Given the description of an element on the screen output the (x, y) to click on. 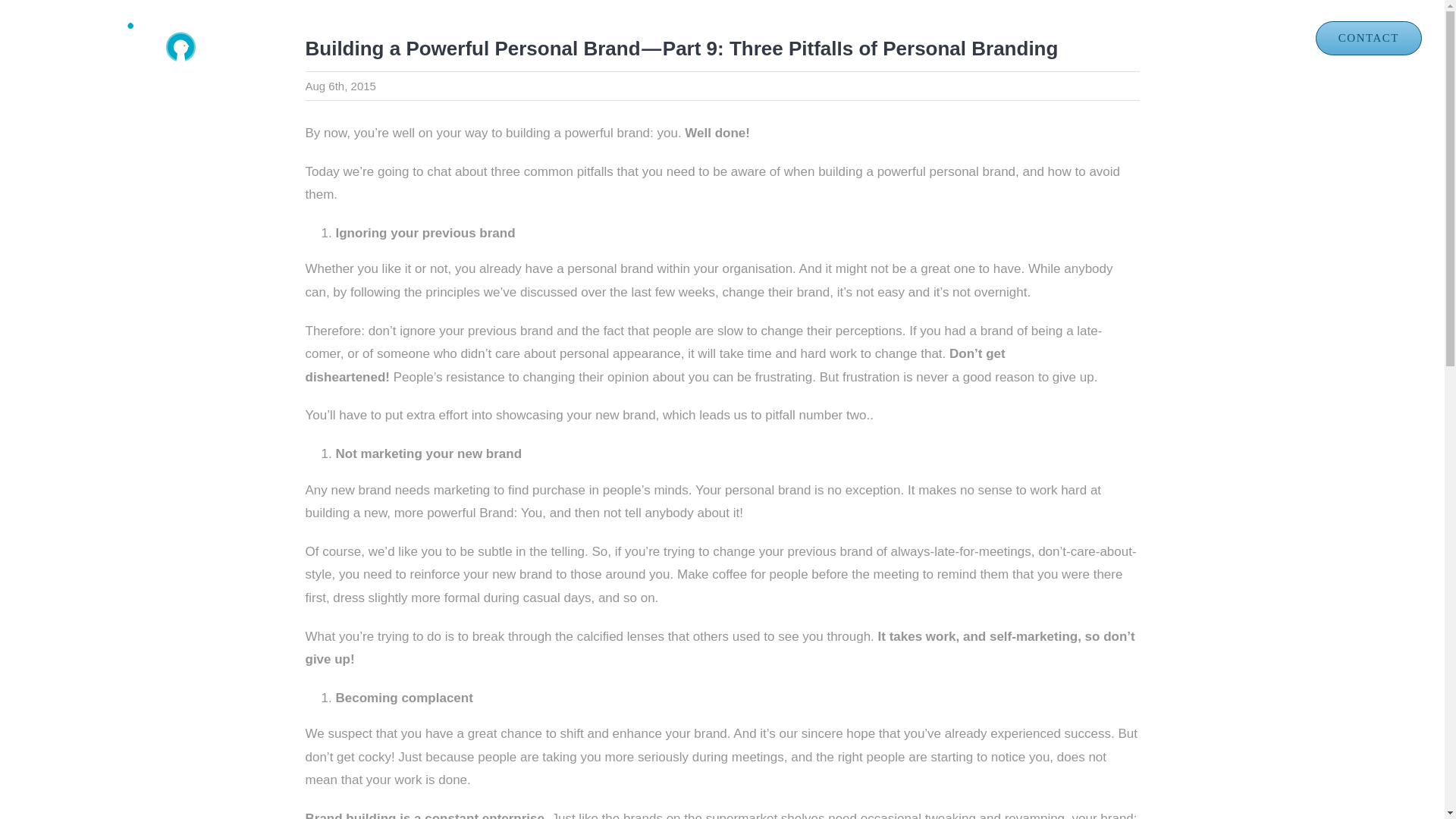
RADIO OMNICOR (1223, 38)
WEBINARS (1094, 38)
PRODUCTS (806, 38)
CONTACT (1369, 38)
SERVICES (914, 38)
